Given the description of an element on the screen output the (x, y) to click on. 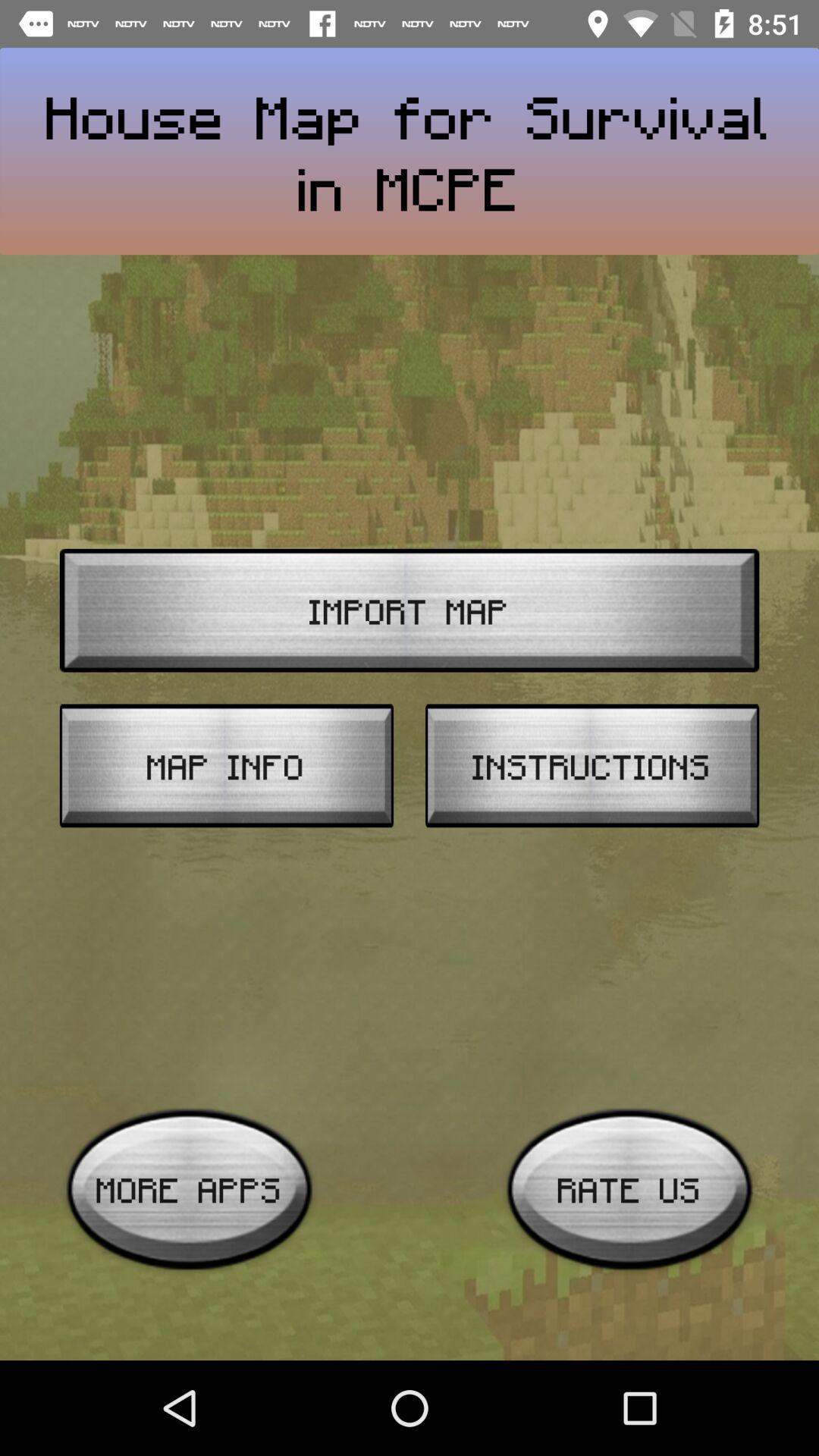
tap the item next to the more apps icon (629, 1188)
